Given the description of an element on the screen output the (x, y) to click on. 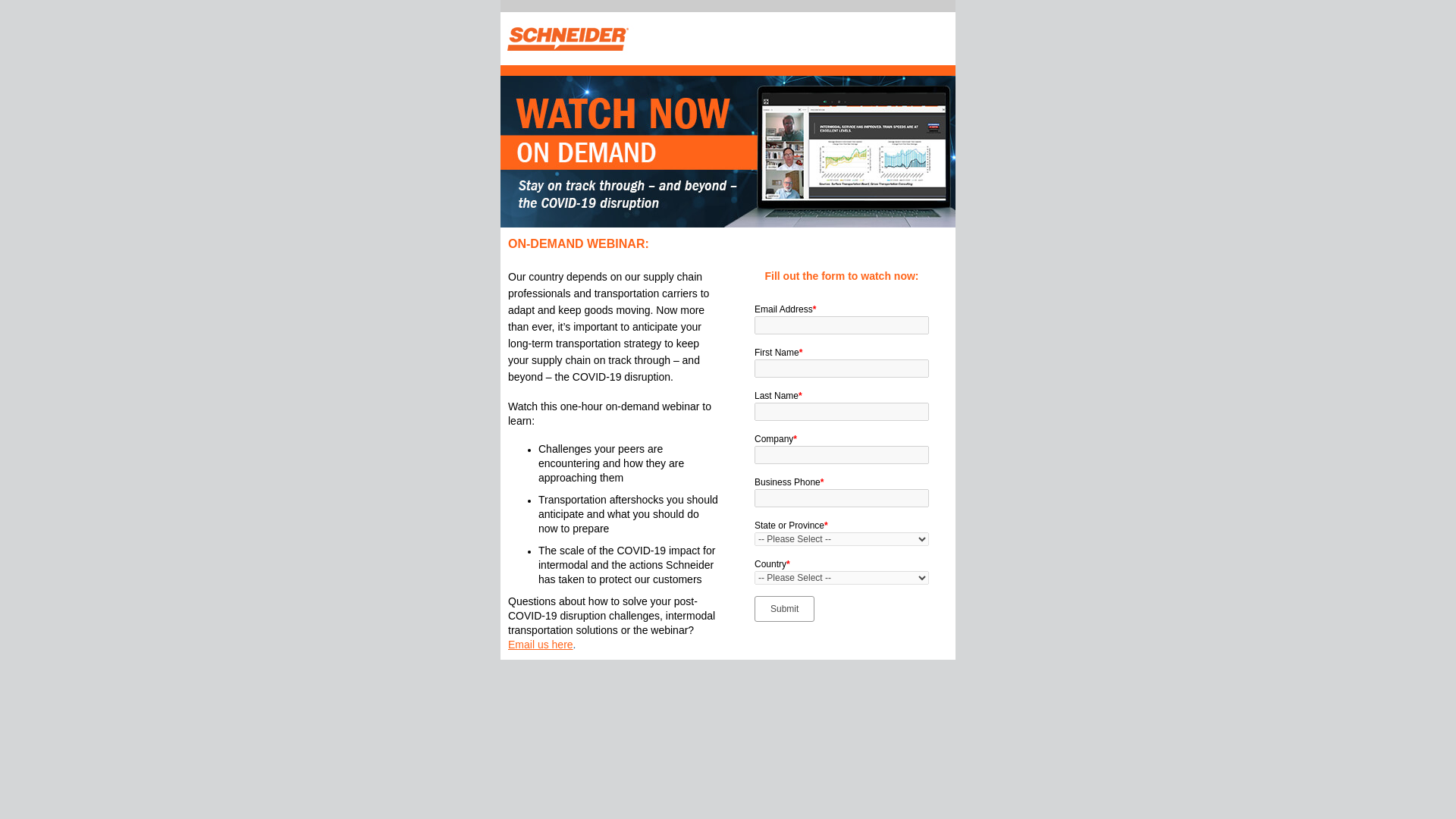
Email us here (540, 644)
Email us (540, 644)
Submit (783, 608)
